Given the description of an element on the screen output the (x, y) to click on. 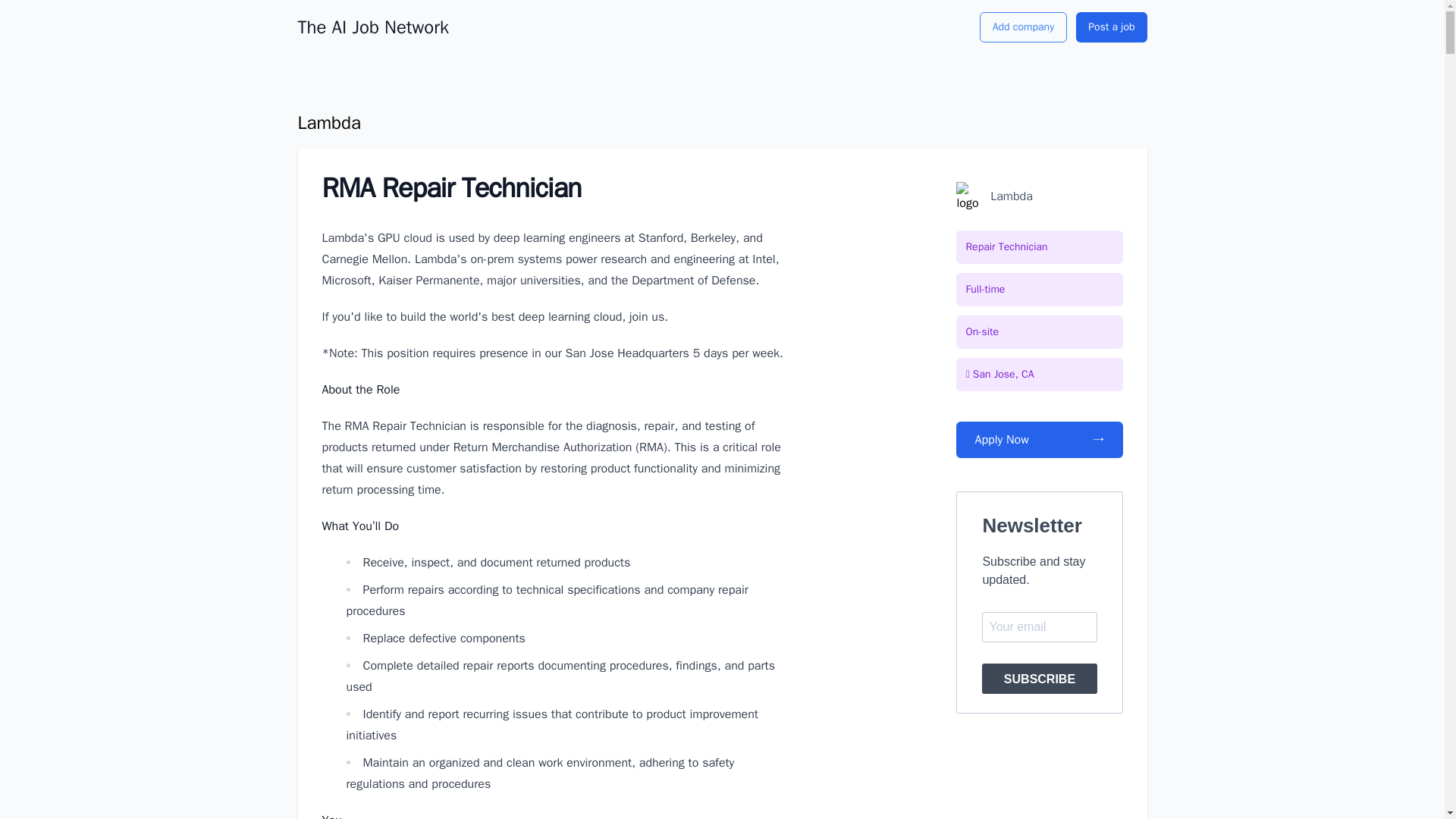
Lambda (328, 122)
Lambda (1011, 196)
The AI Job Network (372, 27)
SUBSCRIBE (1038, 678)
Post a job (1111, 27)
Add company (1023, 27)
